Given the description of an element on the screen output the (x, y) to click on. 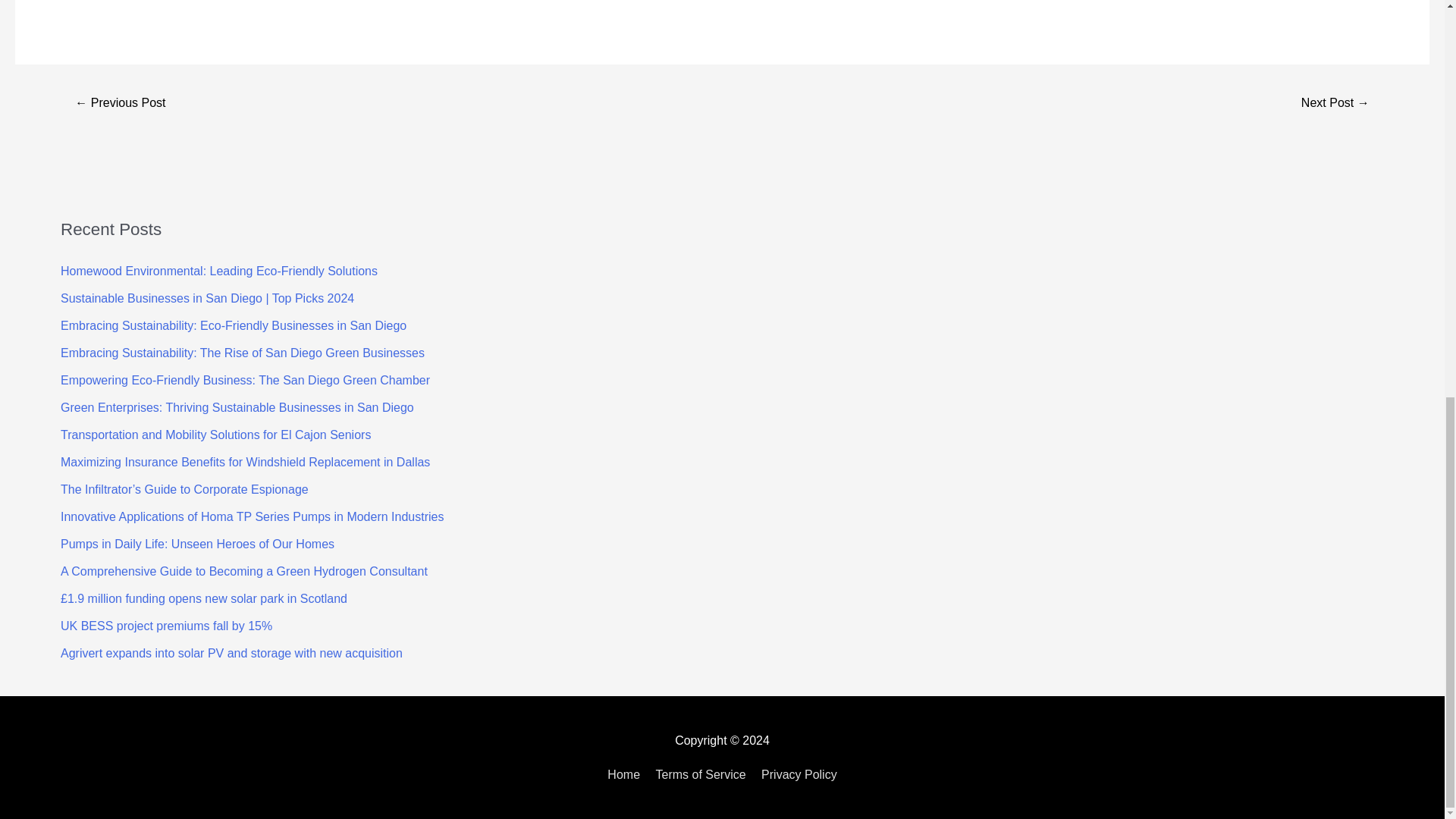
Terms of Service (700, 774)
Home (626, 774)
Pumps in Daily Life: Unseen Heroes of Our Homes (197, 543)
Homewood Environmental: Leading Eco-Friendly Solutions (219, 270)
Transportation and Mobility Solutions for El Cajon Seniors (216, 434)
Privacy Policy (796, 774)
